Given the description of an element on the screen output the (x, y) to click on. 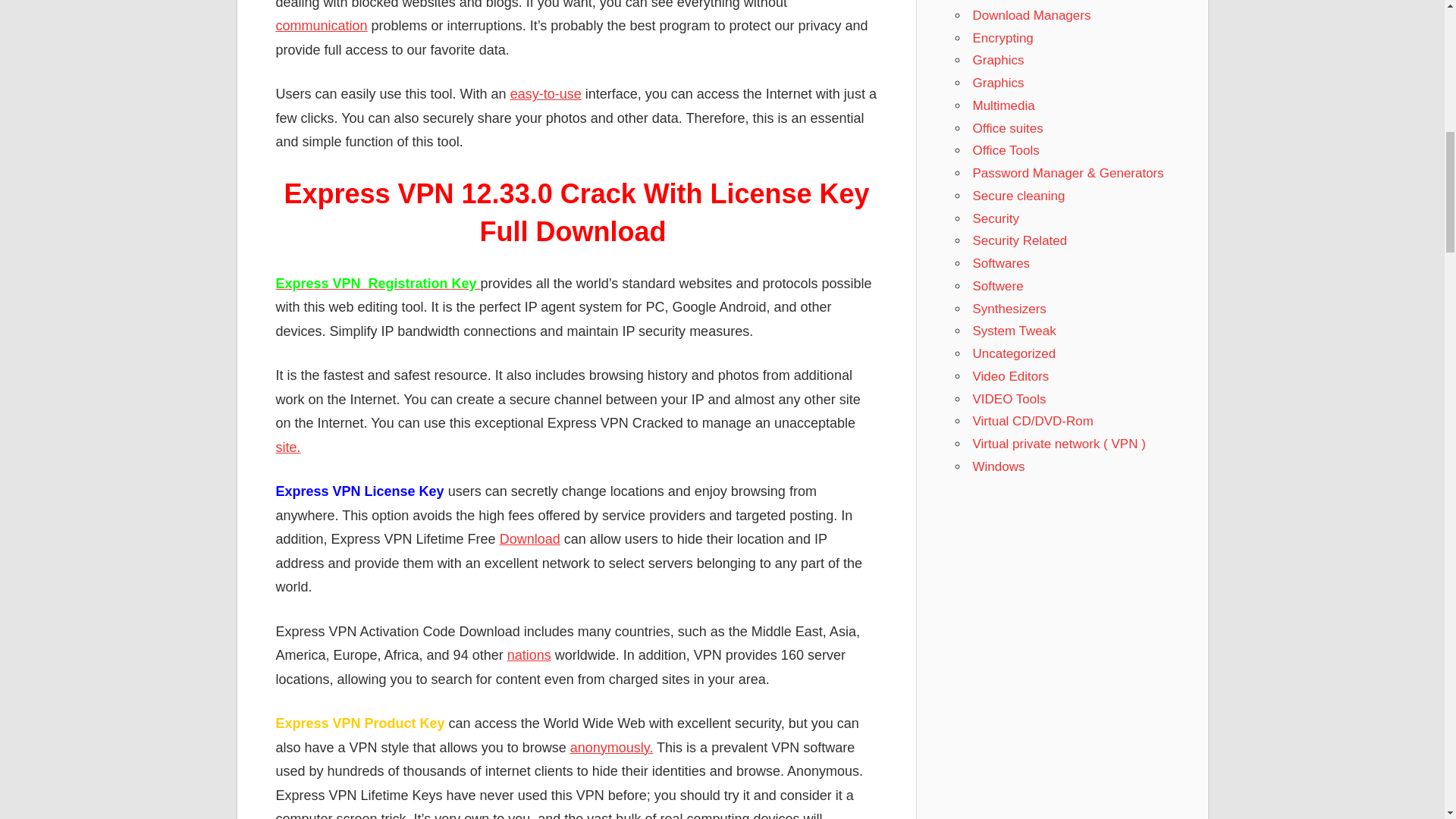
site. (288, 447)
anonymously. (611, 747)
Express VPN  Registration Key (378, 283)
easy-to-use (545, 93)
communication (322, 25)
nations (528, 654)
Download (529, 539)
